Given the description of an element on the screen output the (x, y) to click on. 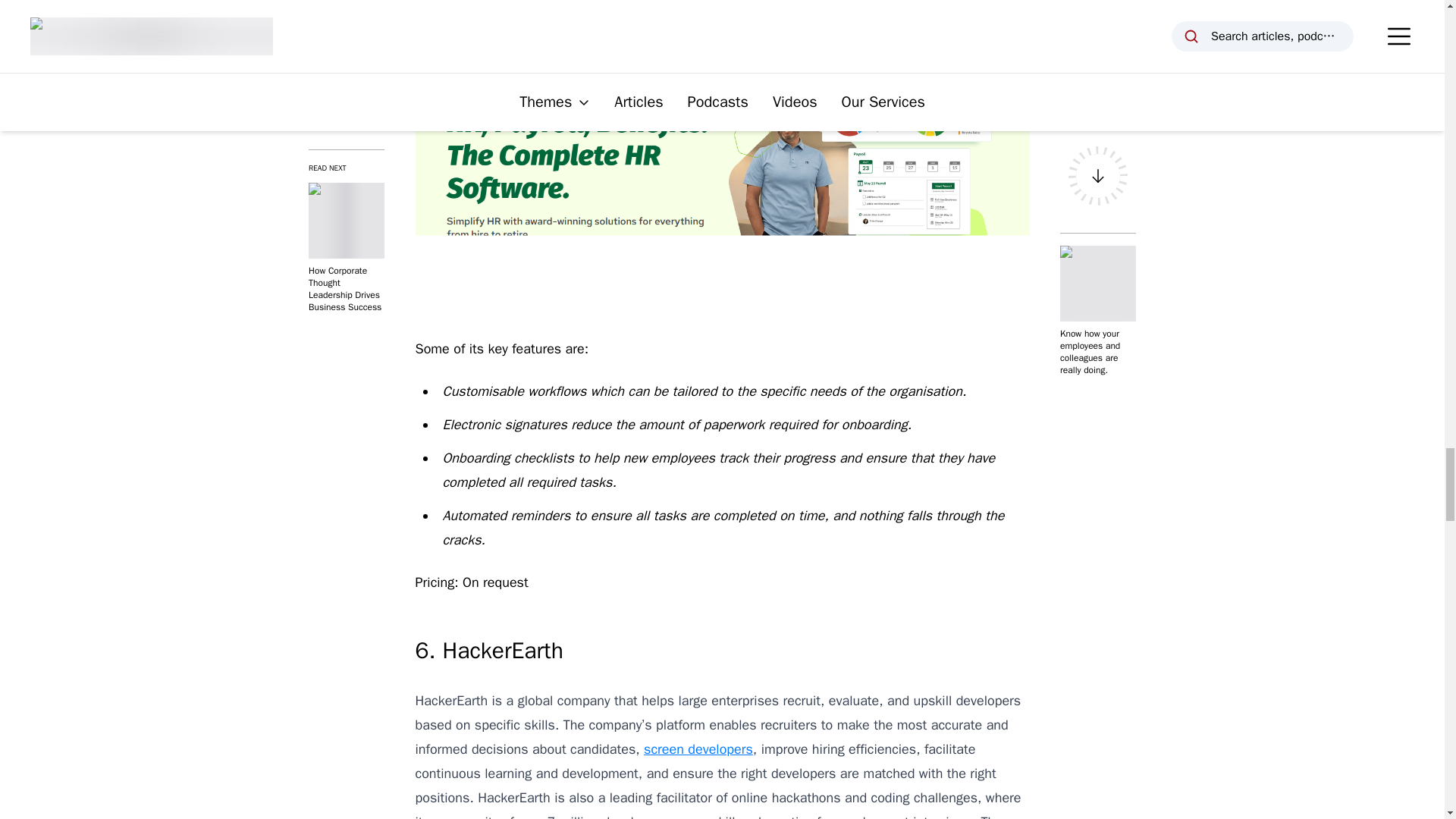
How to Make Onboarding Easier and More Effective: 5 Ways (794, 25)
screen developers (697, 749)
